Given the description of an element on the screen output the (x, y) to click on. 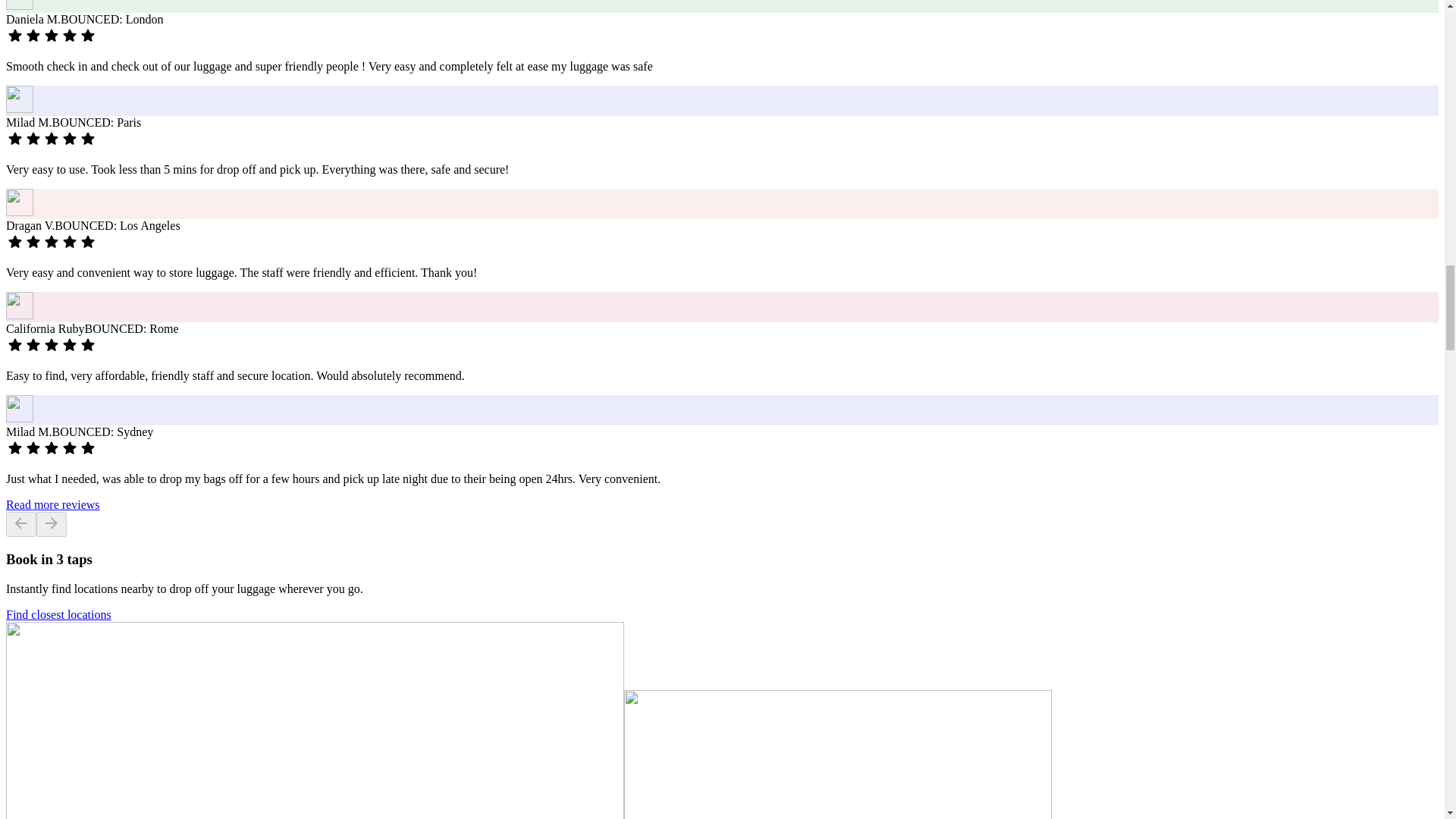
Find closest locations (58, 614)
Read more reviews (52, 504)
